Given the description of an element on the screen output the (x, y) to click on. 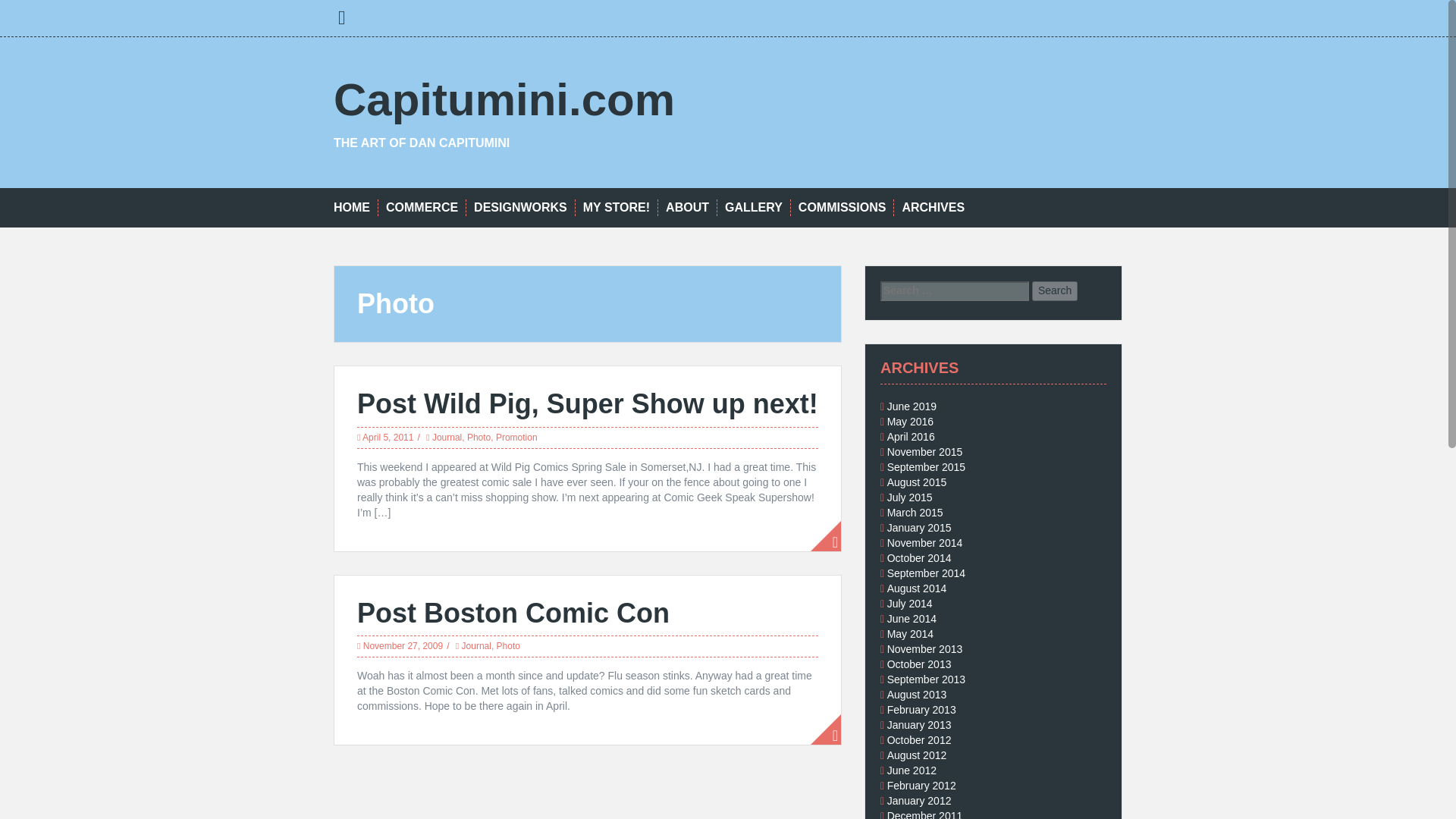
Promotion (516, 437)
Journal (476, 645)
August 2015 (916, 481)
June 2019 (911, 406)
July 2014 (909, 603)
COMMERCE (421, 208)
COMMISSIONS (841, 208)
ABOUT (687, 208)
November 2015 (924, 451)
July 2015 (909, 497)
